Given the description of an element on the screen output the (x, y) to click on. 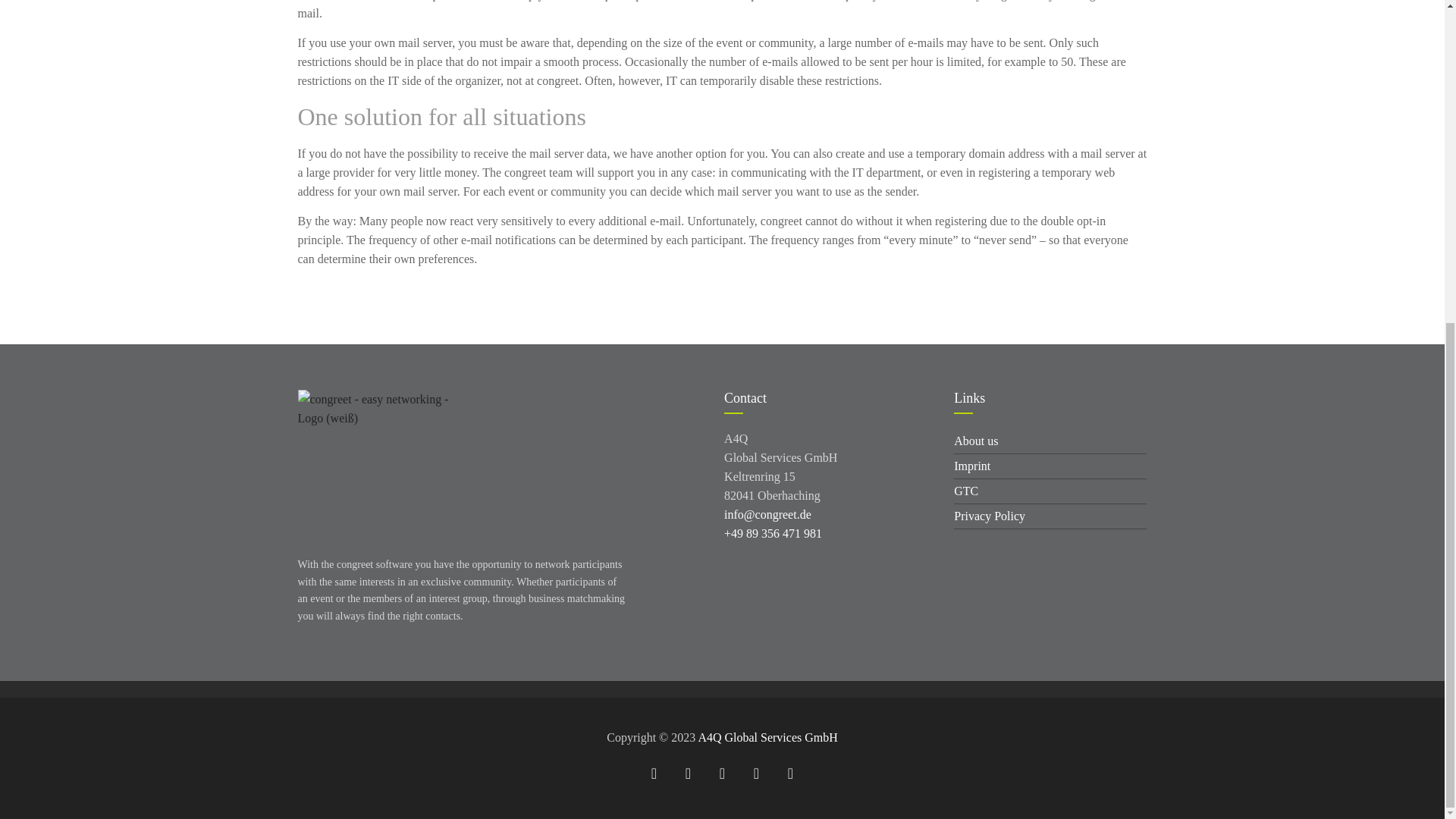
Privacy Policy (1050, 516)
GTC (1050, 491)
Imprint (1050, 466)
About us (1050, 441)
